Given the description of an element on the screen output the (x, y) to click on. 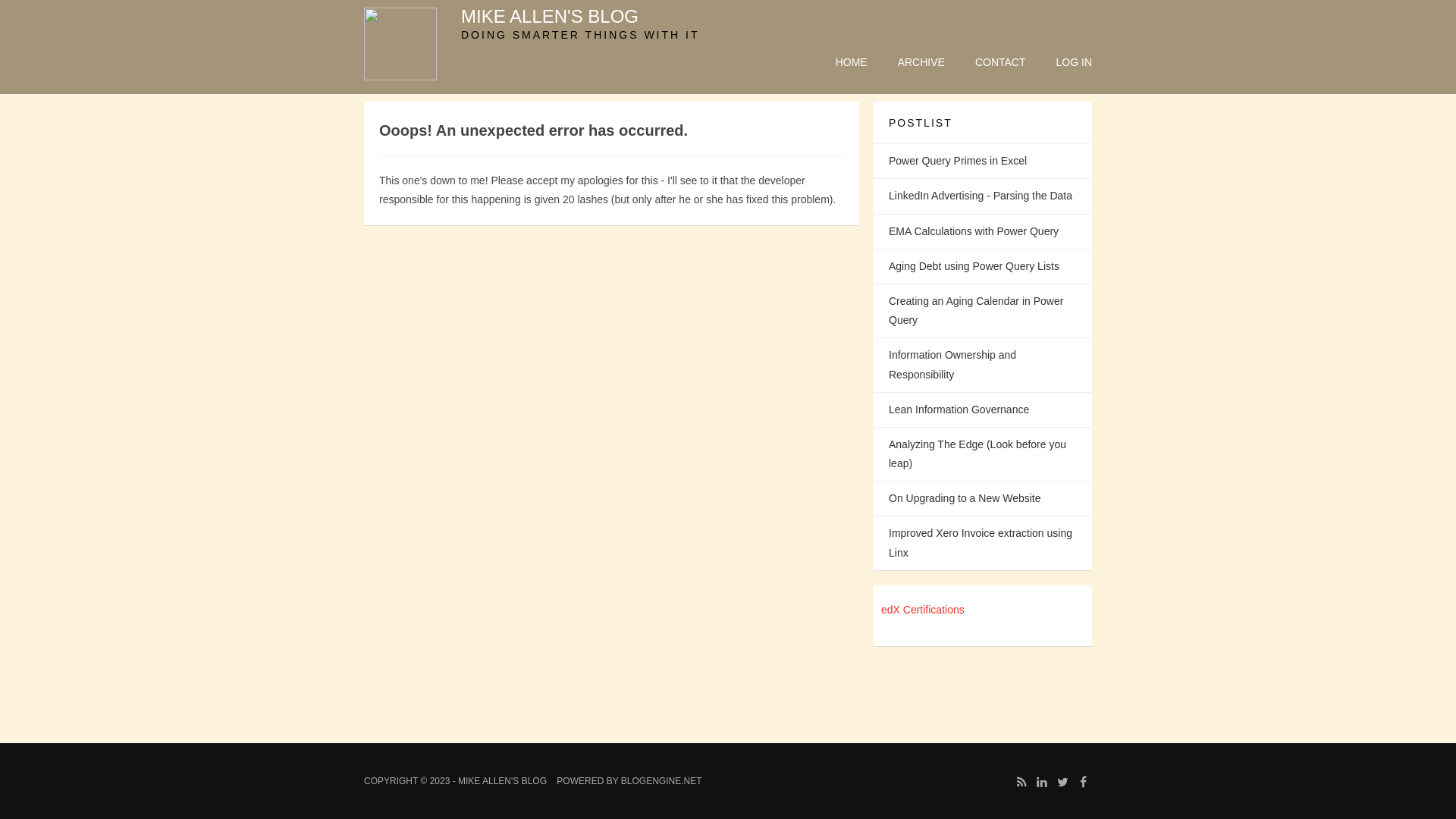
Aging Debt using Power Query Lists Element type: text (982, 266)
LOG IN Element type: text (1074, 62)
Lean Information Governance Element type: text (982, 409)
Analyzing The Edge (Look before you leap) Element type: text (982, 454)
MIKE ALLEN'S BLOG Element type: text (549, 16)
Power Query Primes in Excel Element type: text (982, 160)
HOME Element type: text (851, 62)
CONTACT Element type: text (1000, 62)
edX Certifications Element type: text (922, 609)
BLOGENGINE.NET Element type: text (661, 780)
Information Ownership and Responsibility Element type: text (982, 364)
LinkedIn Advertising - Parsing the Data Element type: text (982, 195)
Improved Xero Invoice extraction using Linx Element type: text (982, 542)
ARCHIVE Element type: text (920, 62)
MIKE ALLEN'S BLOG Element type: text (502, 780)
Creating an Aging Calendar in Power Query Element type: text (982, 310)
EMA Calculations with Power Query Element type: text (982, 231)
On Upgrading to a New Website Element type: text (982, 498)
